Given the description of an element on the screen output the (x, y) to click on. 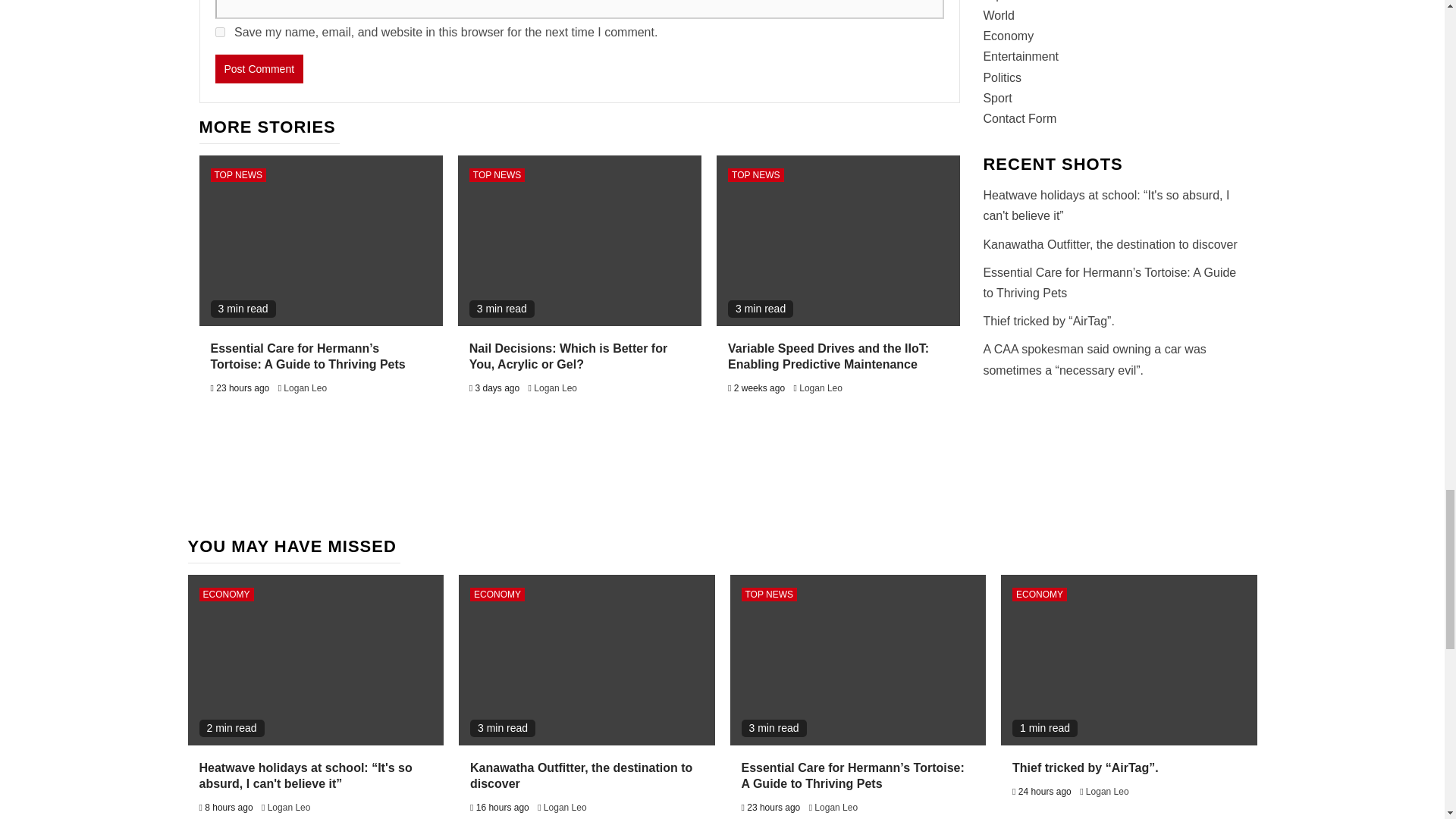
Post Comment (259, 68)
Post Comment (259, 68)
Nail Decisions: Which is Better for You, Acrylic or Gel? (567, 356)
TOP NEWS (496, 174)
yes (220, 31)
TOP NEWS (238, 174)
Logan Leo (555, 388)
Logan Leo (821, 388)
Logan Leo (304, 388)
